Given the description of an element on the screen output the (x, y) to click on. 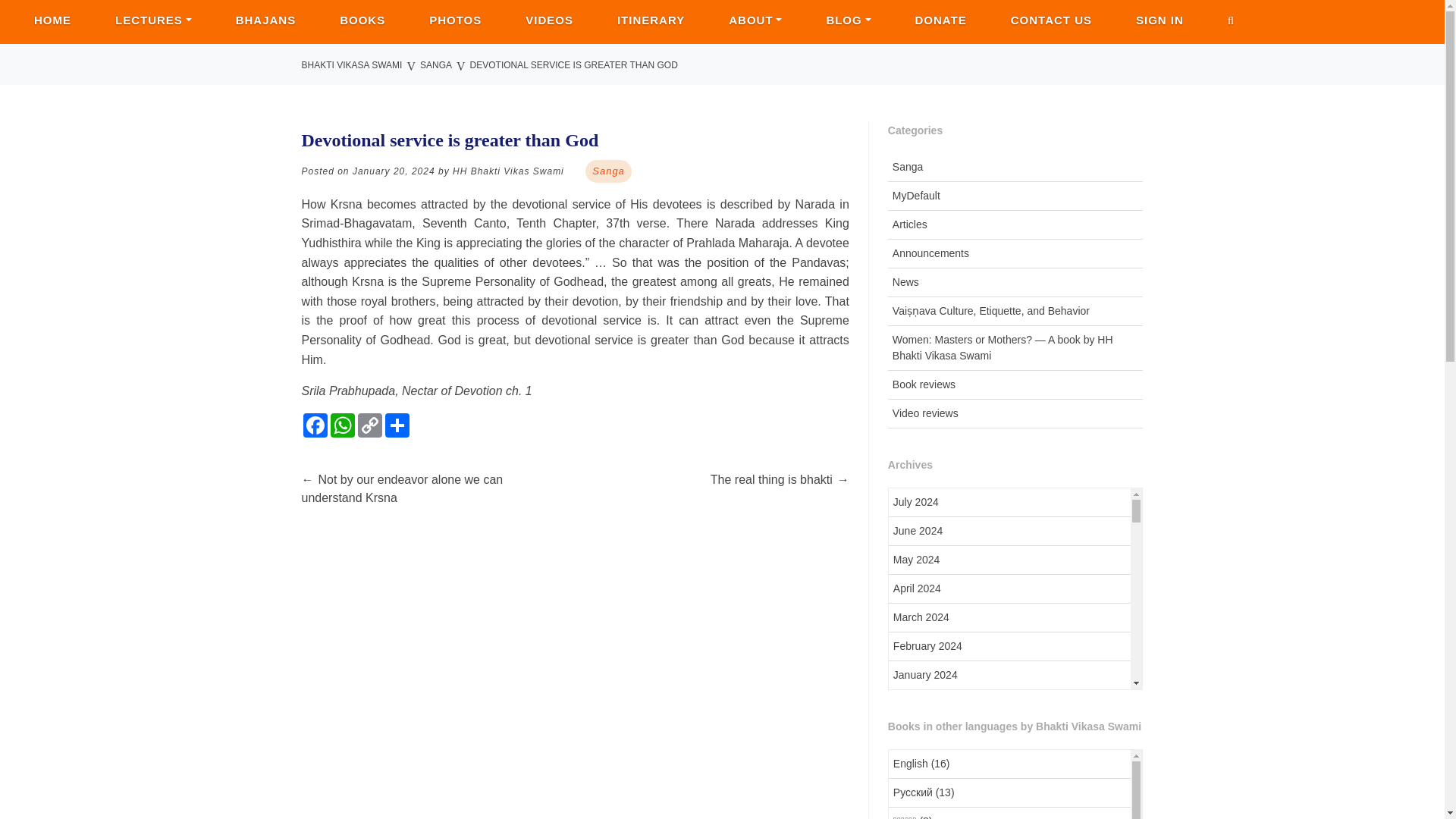
BLOG (847, 21)
HOME (52, 21)
DONATE (940, 21)
BHAJANS (266, 21)
Lectures (153, 21)
PHOTOS (455, 21)
BOOKS (362, 21)
VIDEOS (549, 21)
About (755, 21)
CONTACT US (1051, 21)
ABOUT (755, 21)
LECTURES (153, 21)
SIGN IN (1159, 21)
Itinerary (650, 21)
Books (362, 21)
